Given the description of an element on the screen output the (x, y) to click on. 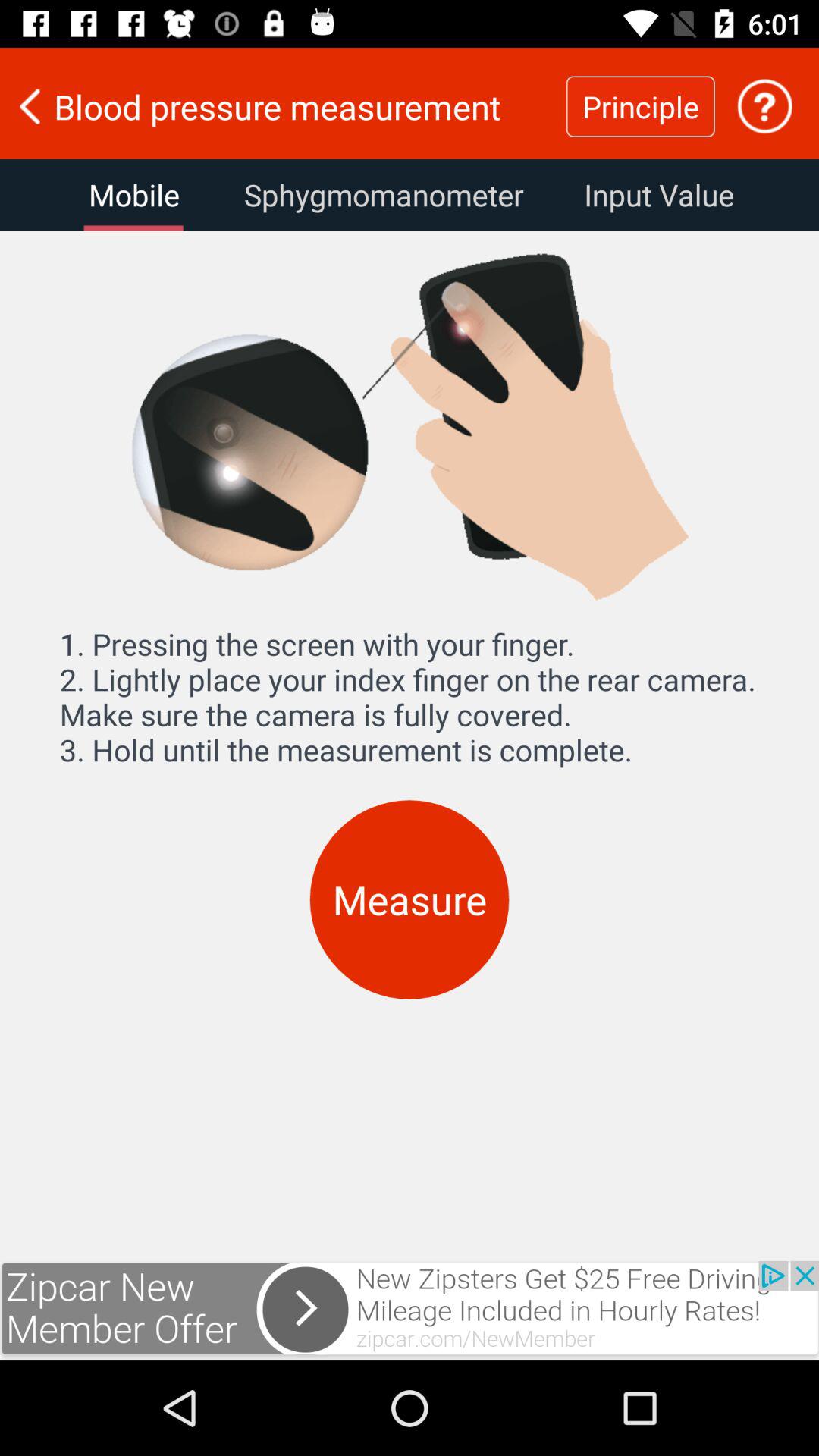
click to the help icone (764, 106)
